Given the description of an element on the screen output the (x, y) to click on. 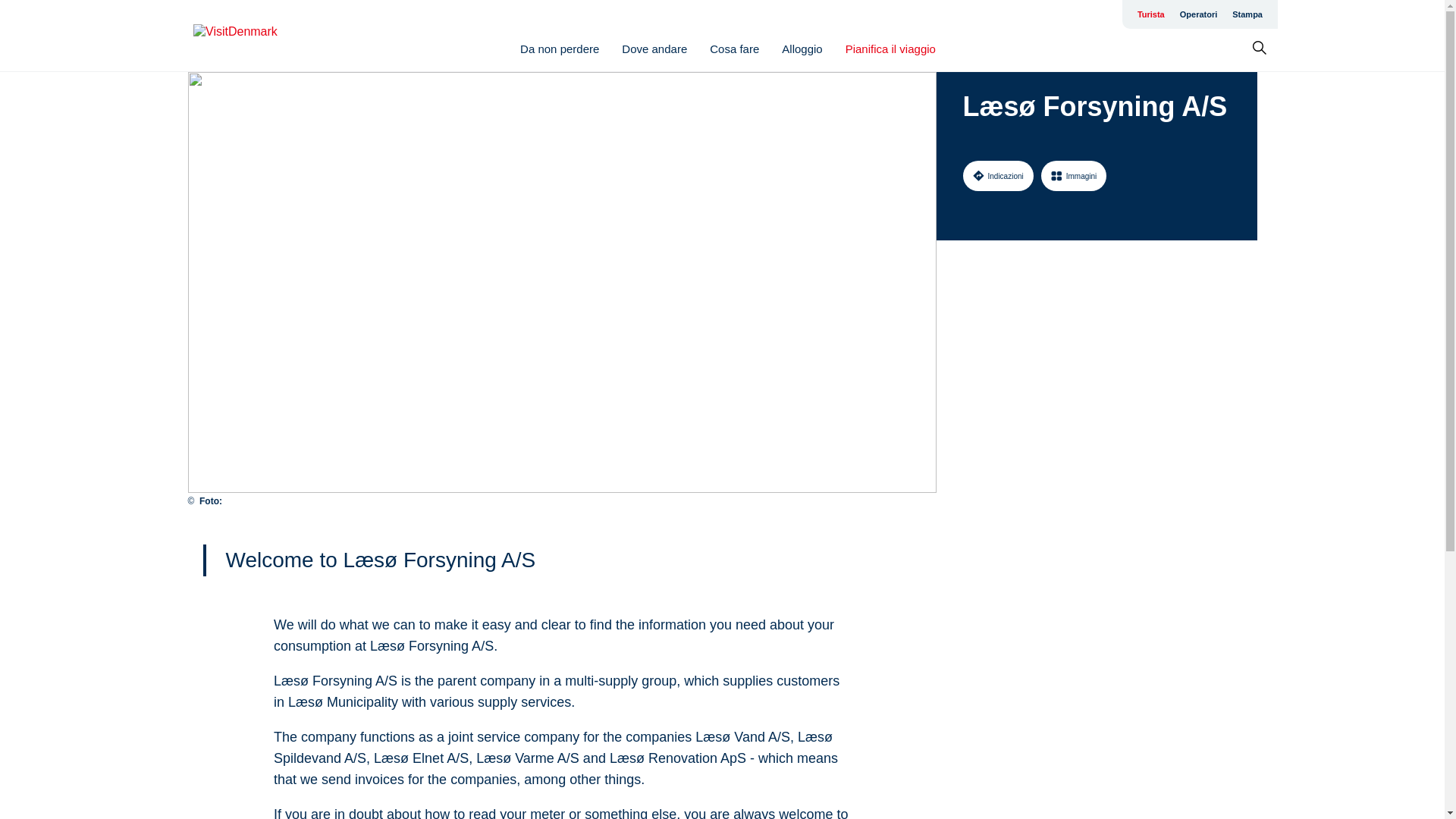
Stampa (1246, 14)
Indicazioni (997, 175)
Pianifica il viaggio (890, 48)
Da non perdere (558, 48)
Turista (1150, 14)
Cosa fare (734, 48)
Dove andare (654, 48)
Alloggio (801, 48)
Immagini (1073, 175)
Operatori (1198, 14)
